Given the description of an element on the screen output the (x, y) to click on. 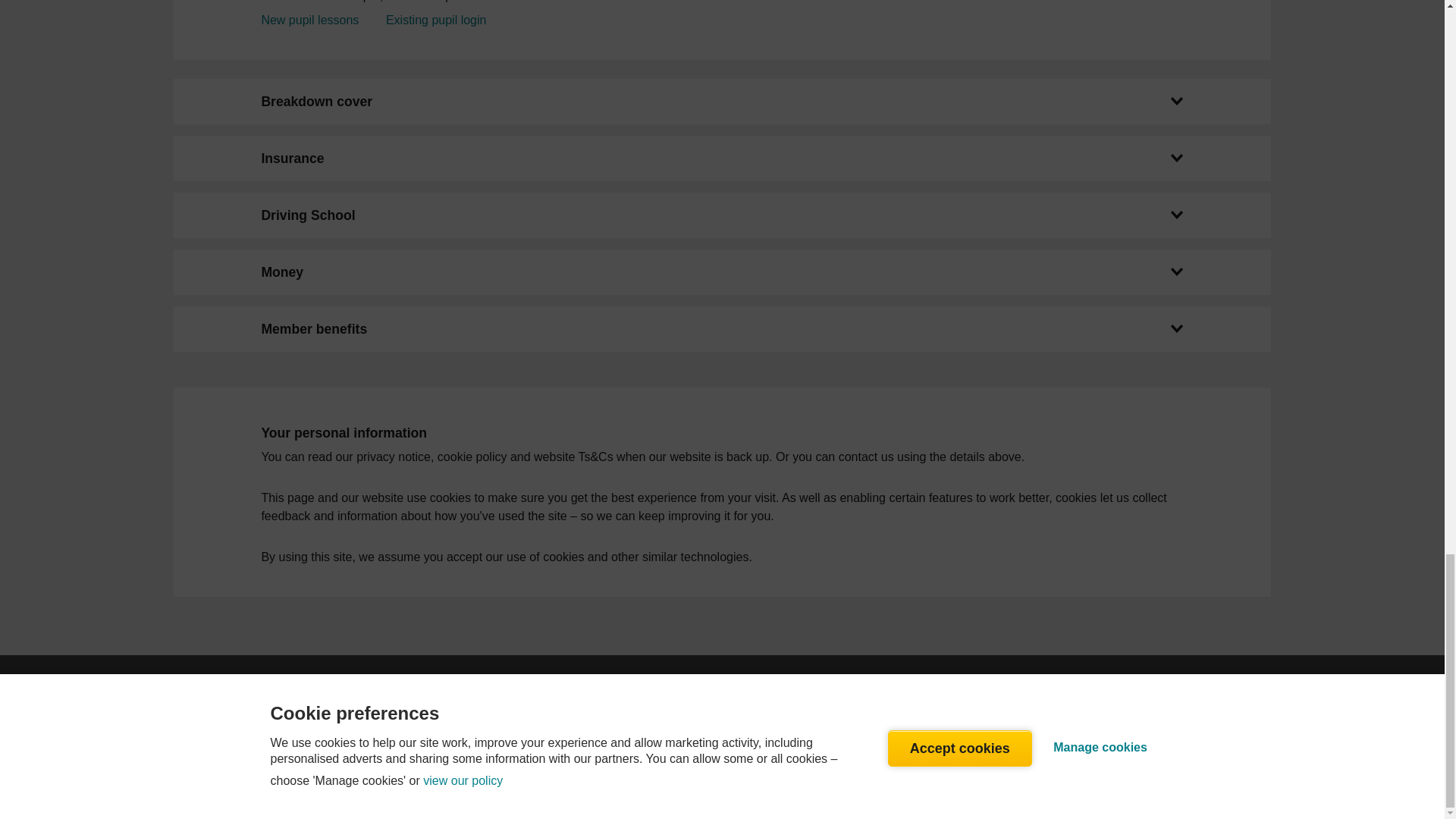
New pupil lessons (309, 20)
Customer Support team (786, 729)
Existing pupil login (435, 20)
AA Press Office (315, 710)
